Given the description of an element on the screen output the (x, y) to click on. 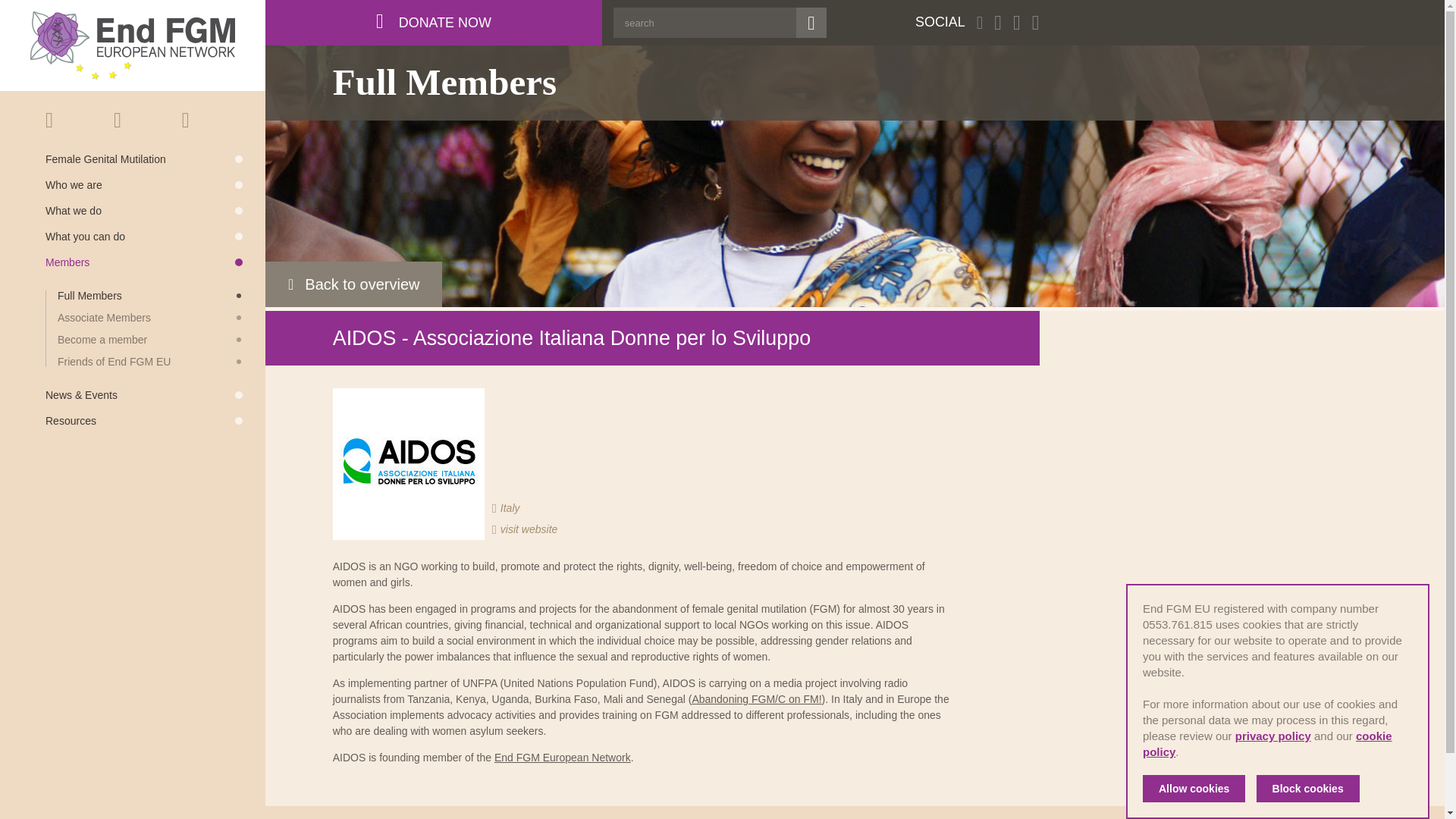
Friends of End FGM EU (150, 361)
What we do (144, 210)
Home (69, 120)
Full Members (150, 295)
Associate Members (150, 317)
Who we are (144, 184)
What we do (144, 210)
End Female Genital Mutilation (132, 45)
Female Genital Mutilation (144, 158)
Members (144, 262)
Who we are (144, 184)
End FGM (132, 45)
What you can do (144, 235)
Female Genital Mutilation (144, 158)
Become a member (150, 339)
